Given the description of an element on the screen output the (x, y) to click on. 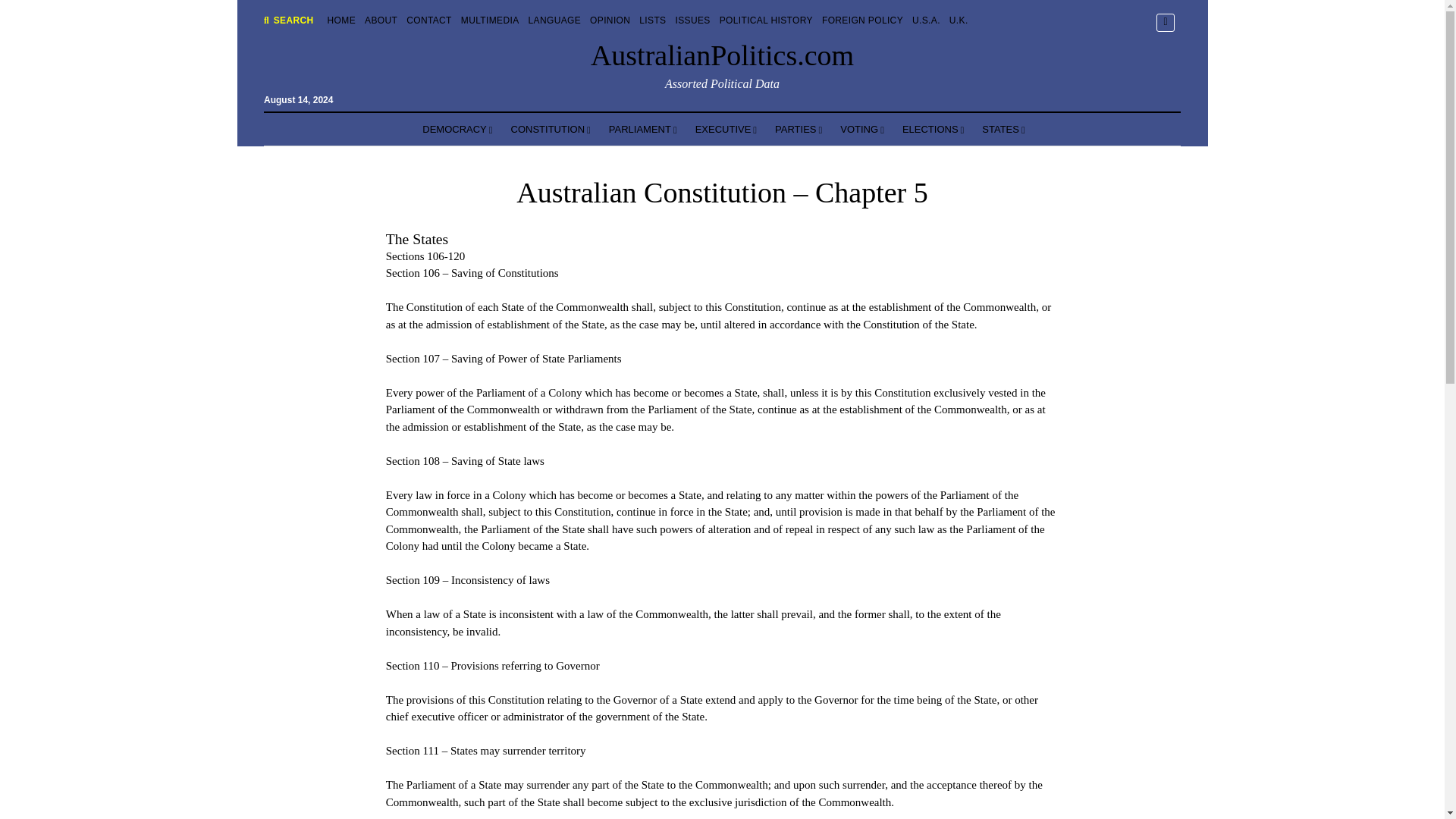
U.K. (958, 20)
LANGUAGE (554, 20)
SEARCH (288, 20)
FOREIGN POLICY (862, 20)
PARLIAMENT (642, 129)
ABOUT (381, 20)
MULTIMEDIA (490, 20)
CONSTITUTION (550, 129)
AustralianPolitics.com (722, 55)
OPINION (609, 20)
